Given the description of an element on the screen output the (x, y) to click on. 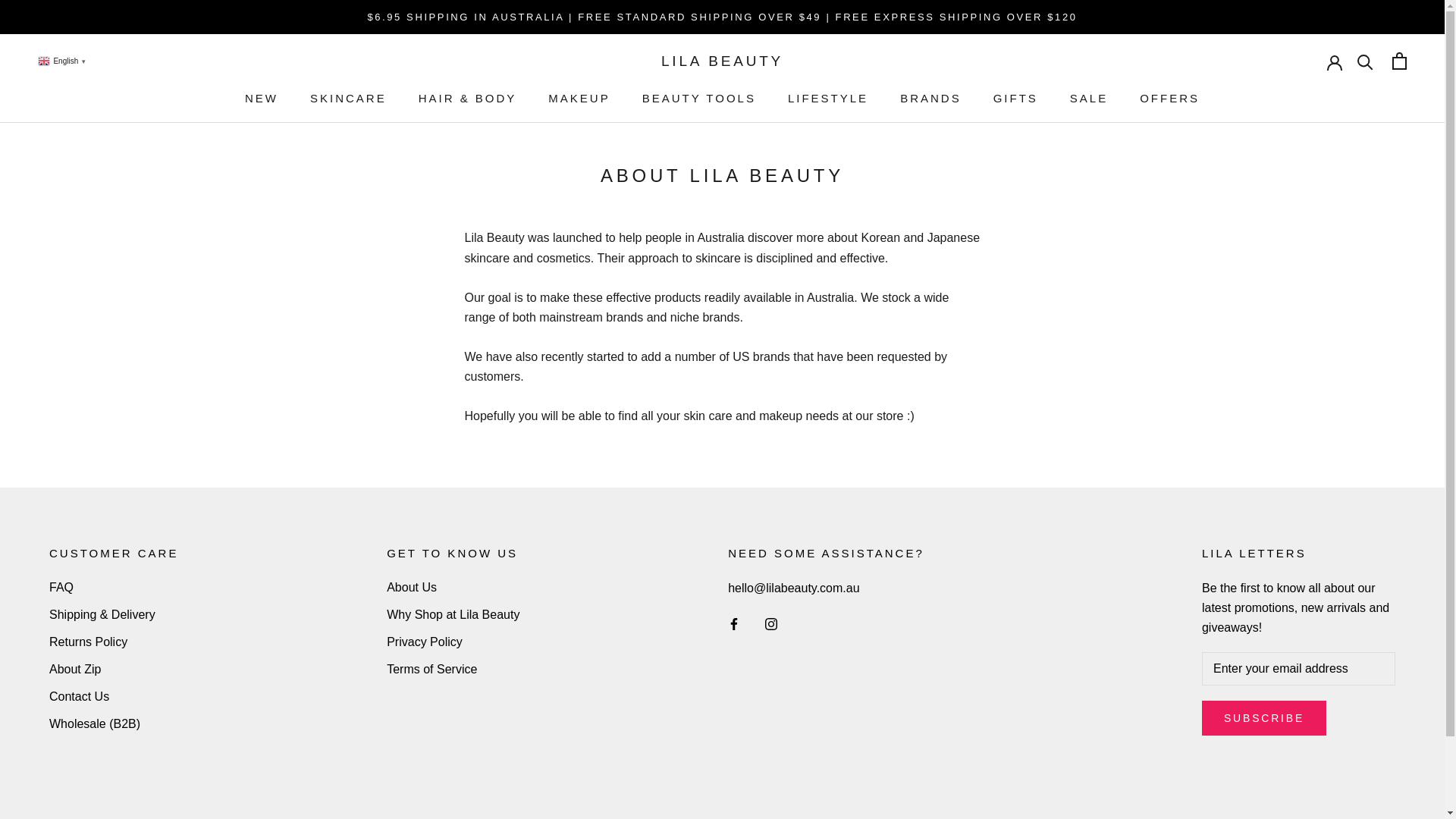
Privacy Policy Element type: text (452, 642)
Terms of Service Element type: text (452, 669)
Why Shop at Lila Beauty Element type: text (452, 614)
About Zip Element type: text (113, 669)
SKINCARE Element type: text (348, 97)
Returns Policy Element type: text (113, 642)
GIFTS Element type: text (1015, 97)
OFFERS Element type: text (1169, 97)
MAKEUP Element type: text (578, 97)
About Us Element type: text (452, 587)
Contact Us Element type: text (113, 696)
FAQ Element type: text (113, 587)
SALE
SALE Element type: text (1088, 97)
Shipping & Delivery Element type: text (113, 614)
SUBSCRIBE Element type: text (1263, 717)
HAIR & BODY Element type: text (467, 97)
BEAUTY TOOLS Element type: text (699, 97)
LIFESTYLE
LIFESTYLE Element type: text (827, 97)
NEW Element type: text (261, 97)
Wholesale (B2B) Element type: text (113, 724)
LILA BEAUTY Element type: text (722, 60)
BRANDS Element type: text (930, 97)
